Given the description of an element on the screen output the (x, y) to click on. 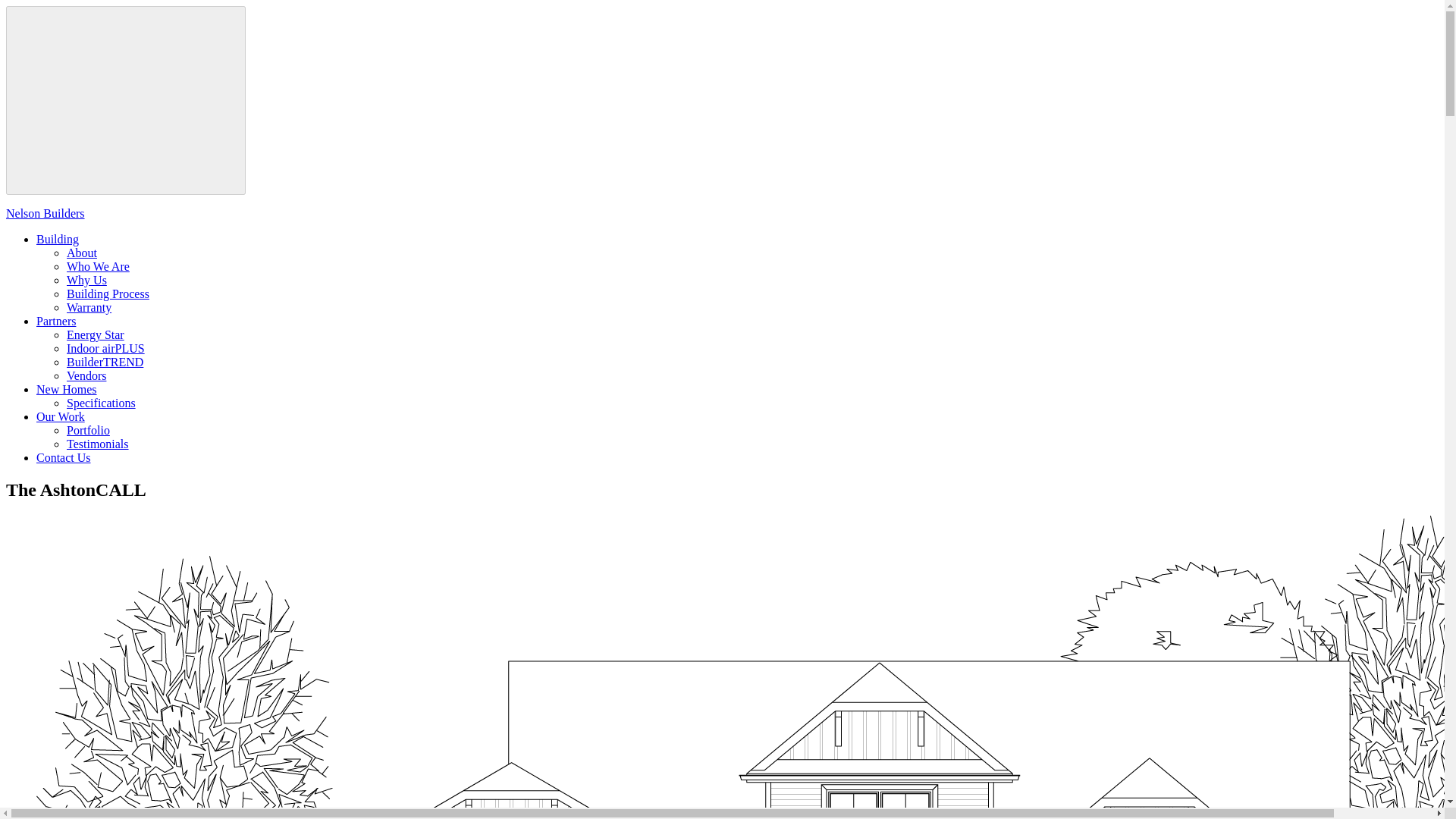
Partners (55, 320)
About (81, 252)
Portfolio (88, 430)
Energy Star (94, 334)
Nelson Builders (721, 227)
Who We Are (97, 266)
BuilderTREND (104, 361)
Our Work (60, 416)
Why Us (86, 279)
Testimonials (97, 443)
